Given the description of an element on the screen output the (x, y) to click on. 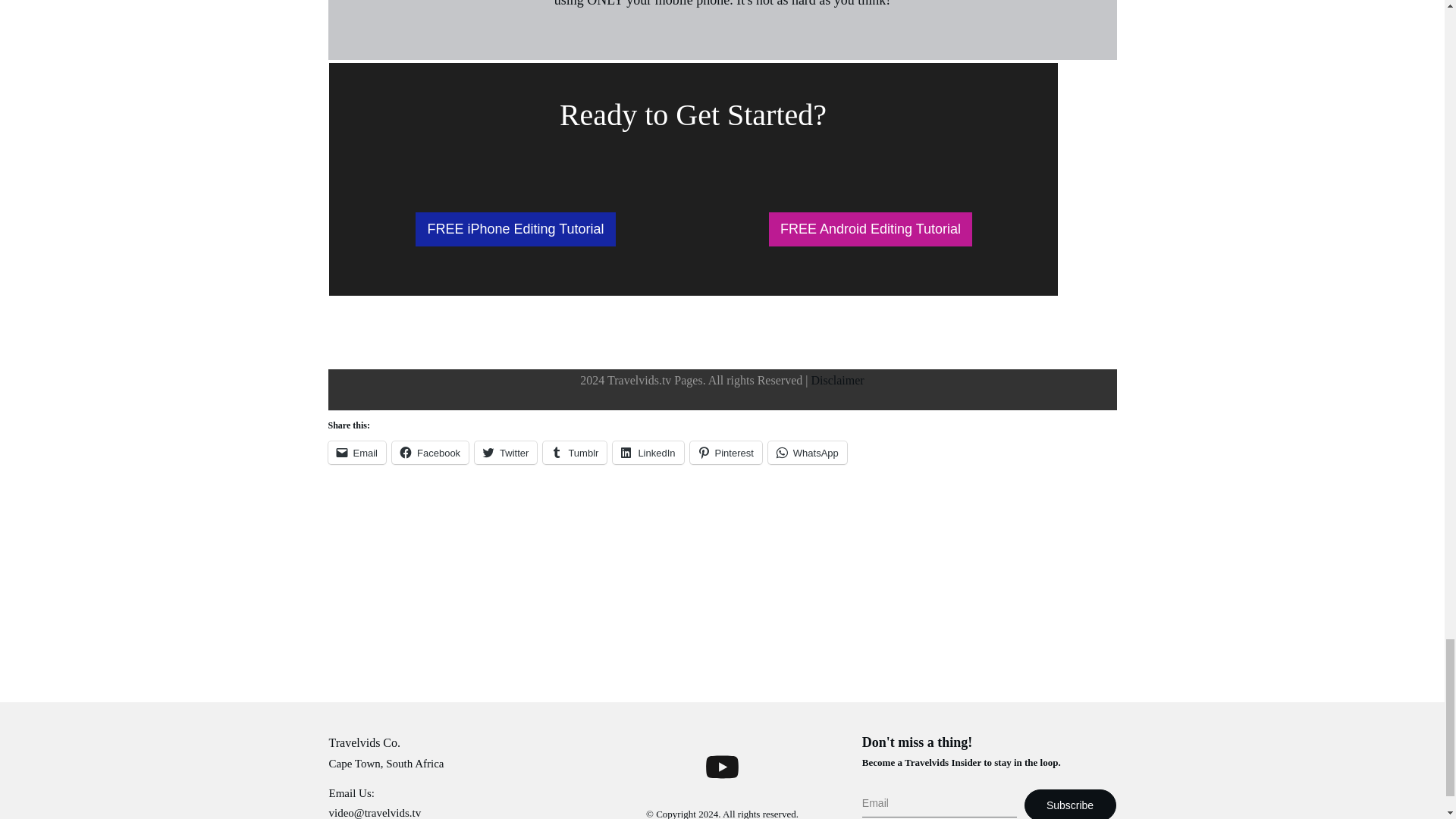
Disclaimer (836, 379)
Click to share on Twitter (505, 452)
Facebook (429, 452)
Email (356, 452)
Twitter (505, 452)
FREE iPhone Editing Tutorial (514, 229)
LinkedIn (647, 452)
Click to share on Pinterest (725, 452)
WhatsApp (807, 452)
Click to share on Tumblr (575, 452)
